Given the description of an element on the screen output the (x, y) to click on. 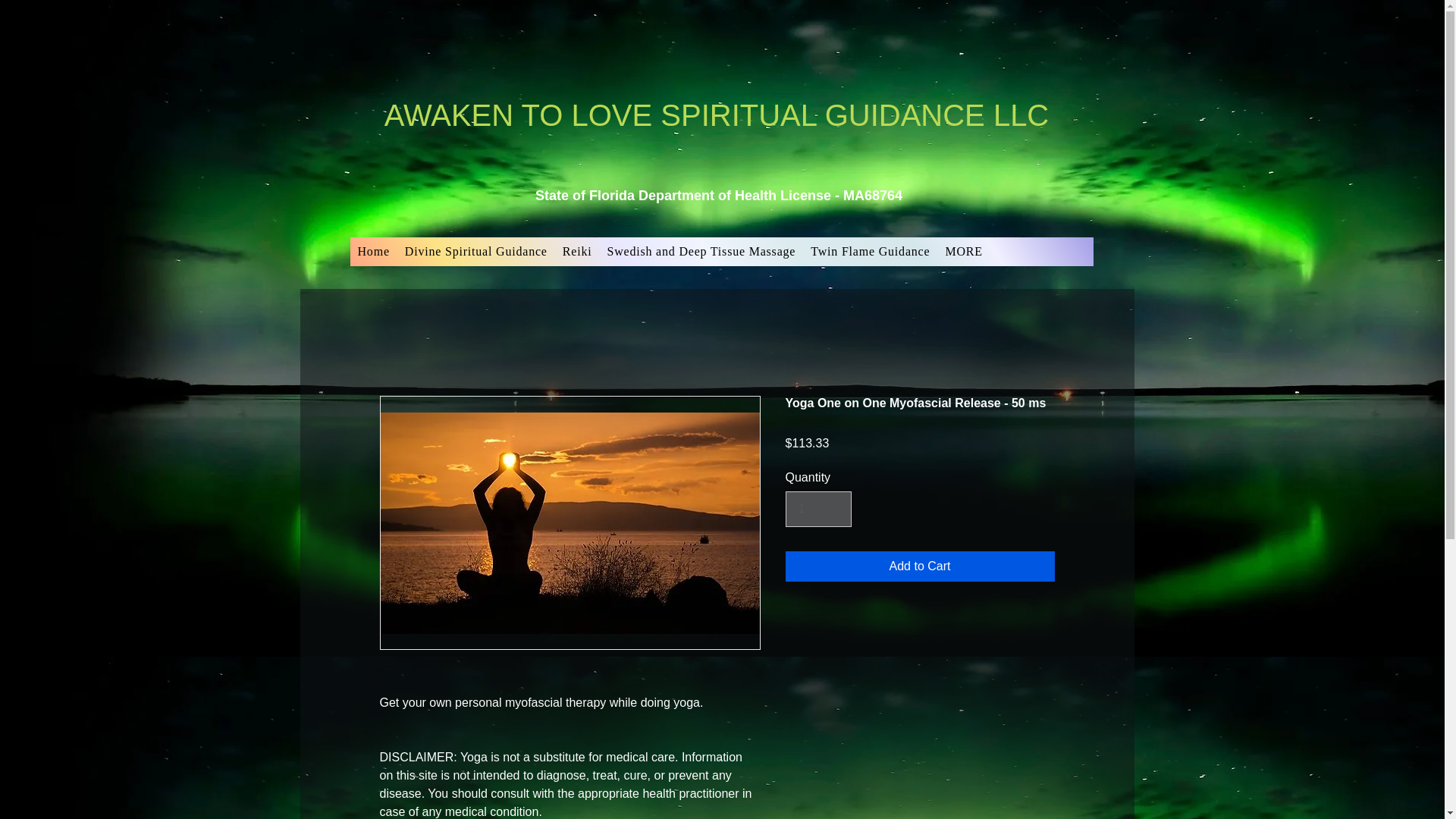
Home (373, 251)
Swedish and Deep Tissue Massage (700, 251)
MORE (963, 251)
Divine Spiritual Guidance (475, 251)
Add to Cart (920, 566)
Reiki (576, 251)
Twin Flame Guidance (870, 251)
1 (818, 508)
